Given the description of an element on the screen output the (x, y) to click on. 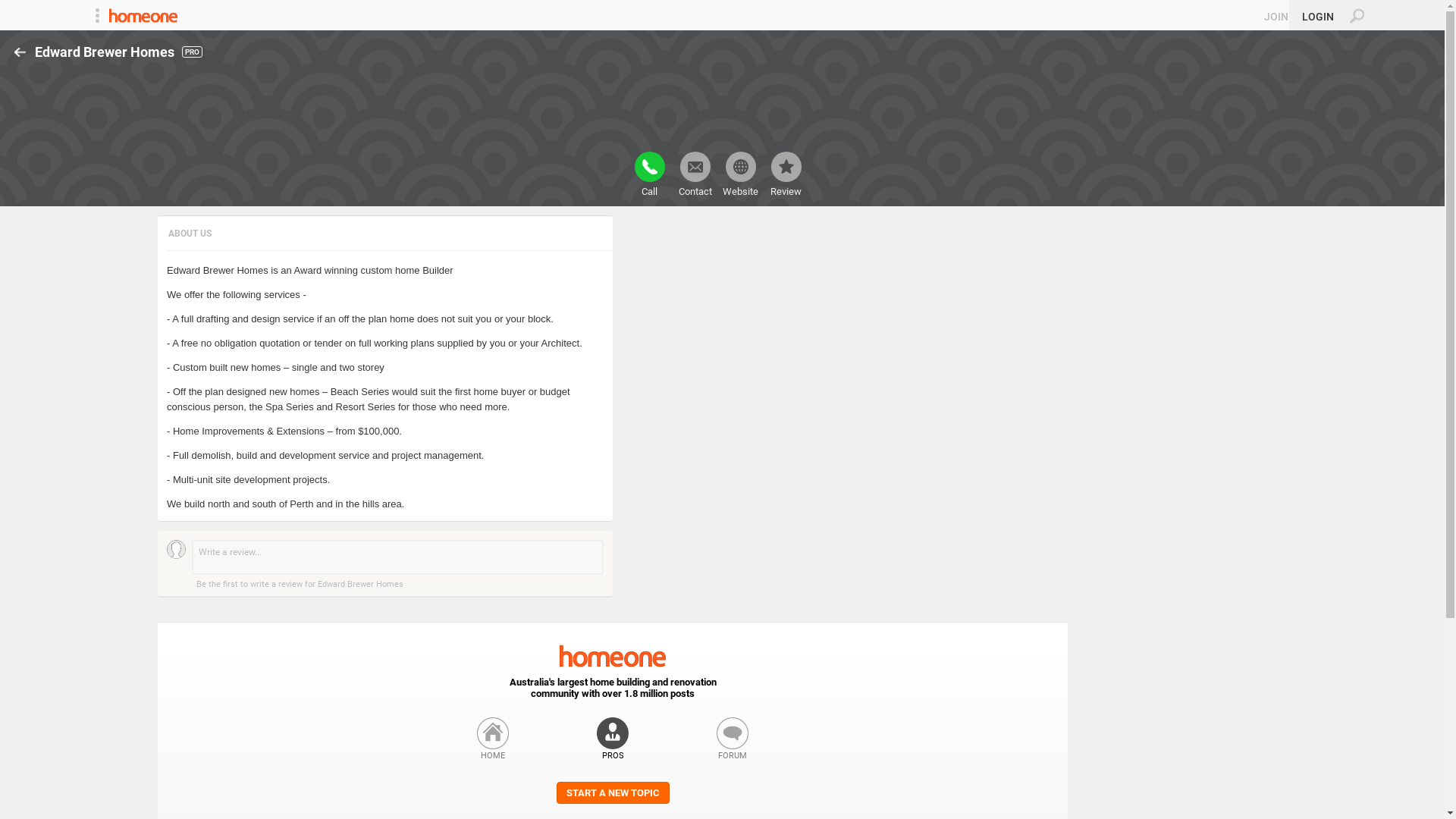
Call Element type: text (648, 174)
Submit Element type: text (18, 8)
Website Element type: text (739, 174)
